Given the description of an element on the screen output the (x, y) to click on. 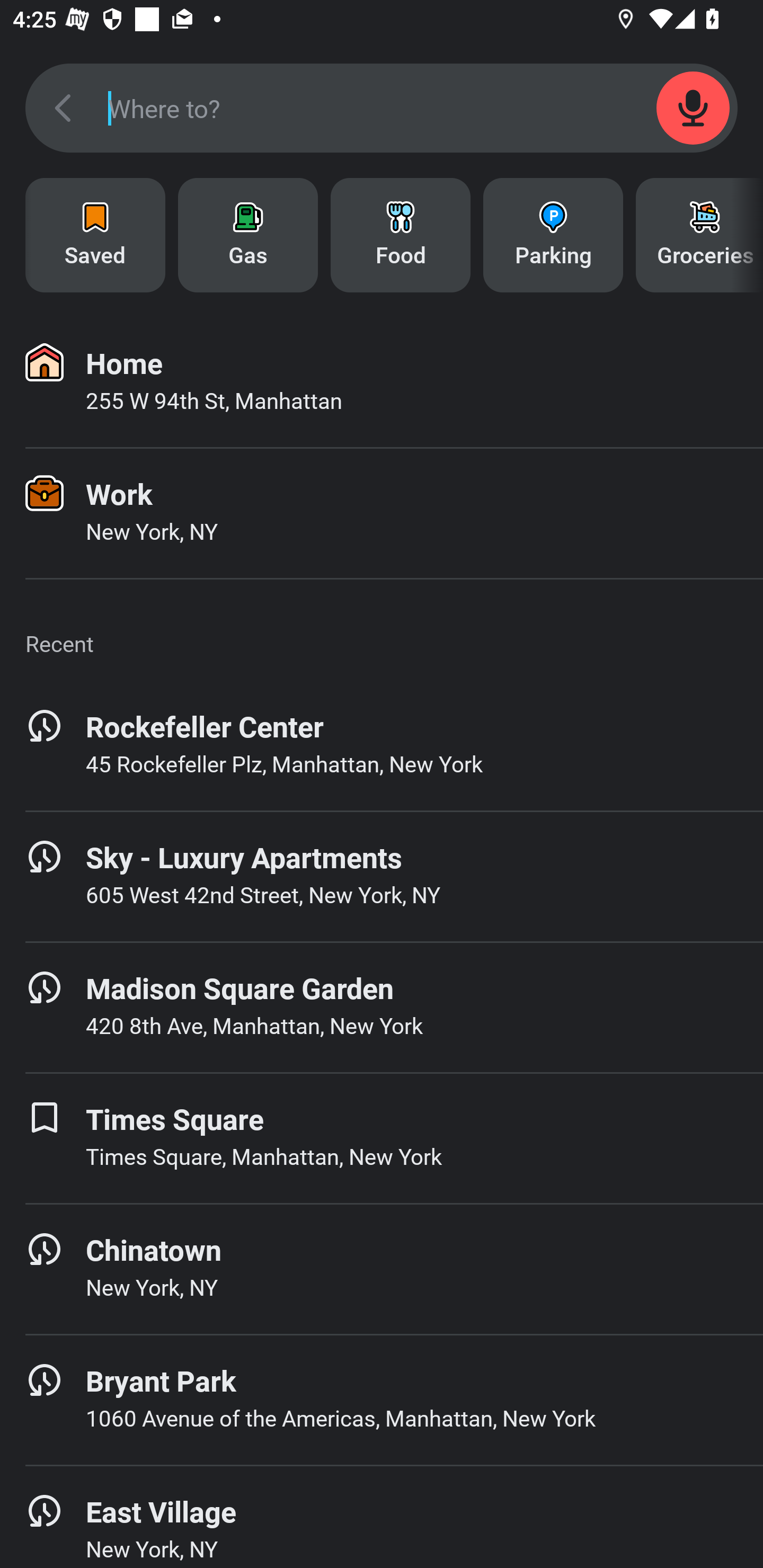
SEARCH_SCREEN_SEARCH_FIELD Where to? (381, 108)
Saved (95, 234)
Gas (247, 234)
Food (400, 234)
Parking (552, 234)
Groceries (699, 234)
Home 255 W 94th St, Manhattan (381, 382)
Work New York, NY (381, 513)
Times Square Times Square, Manhattan, New York (381, 1138)
Chinatown New York, NY (381, 1269)
East Village New York, NY (381, 1517)
